Given the description of an element on the screen output the (x, y) to click on. 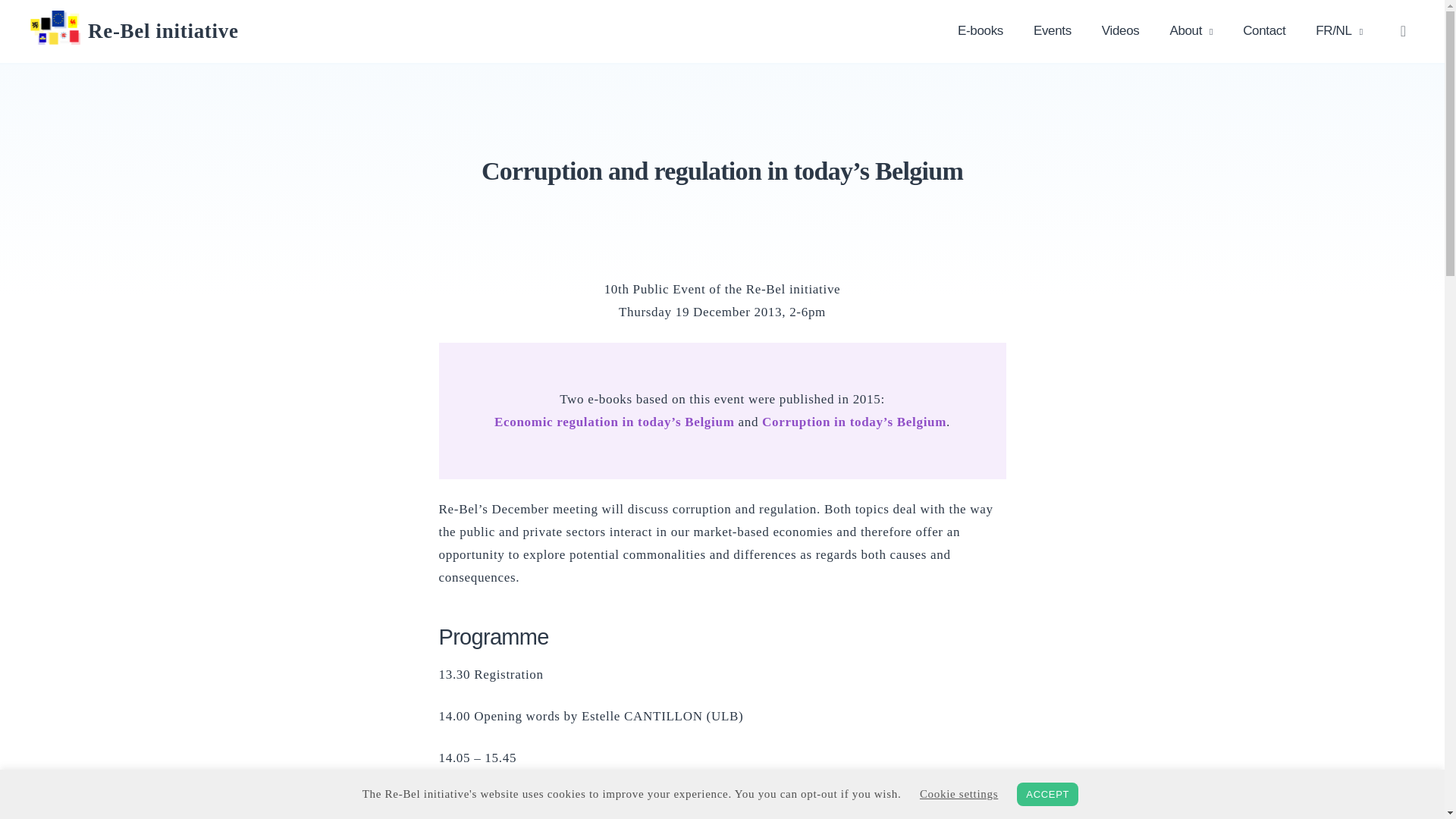
Cookie settings (958, 793)
E-books (979, 30)
Contact (1263, 30)
About (1190, 30)
Videos (1120, 30)
ACCEPT (1047, 793)
Events (1051, 30)
Re-Bel initiative (162, 30)
